Given the description of an element on the screen output the (x, y) to click on. 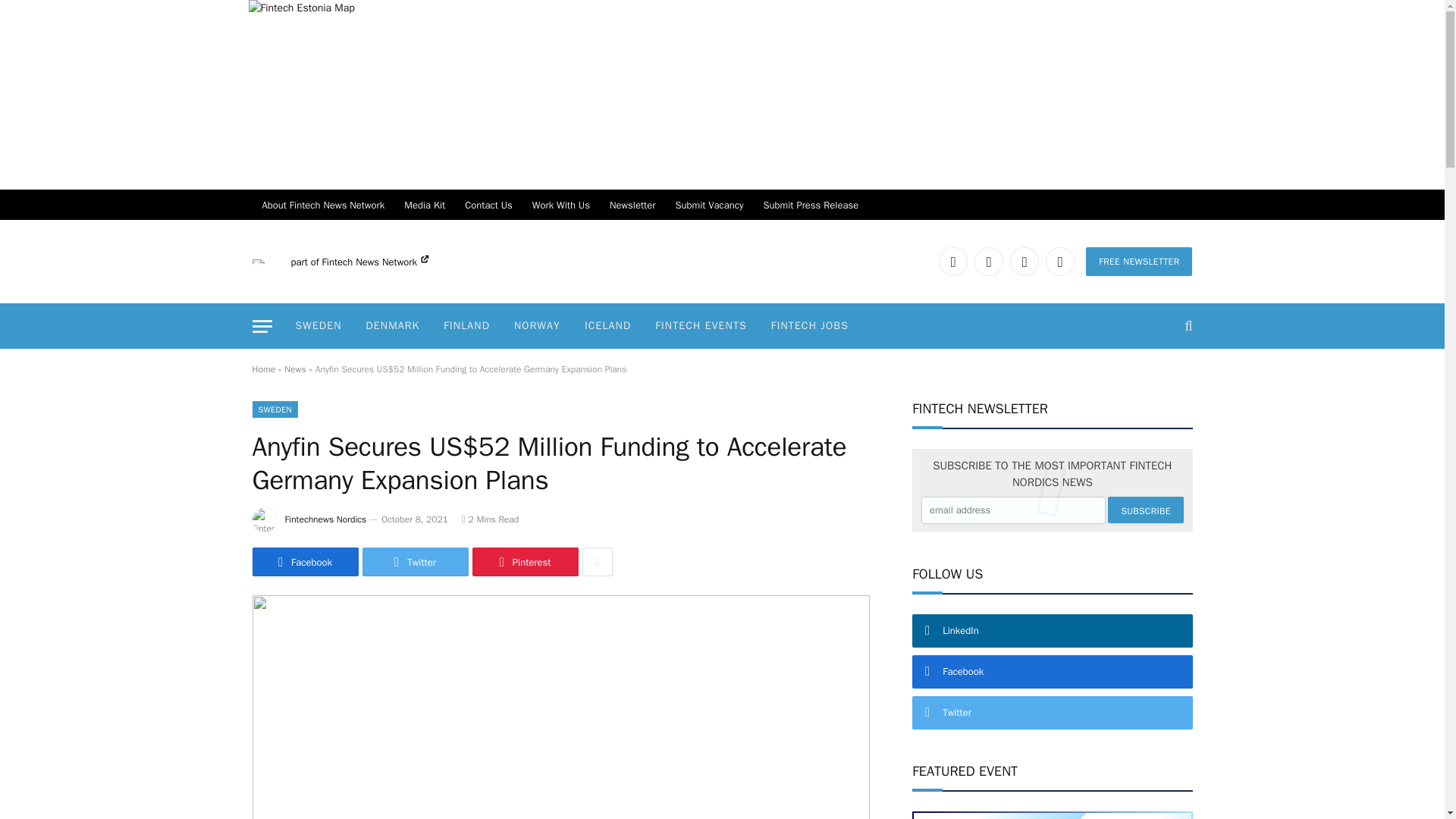
LinkedIn (953, 261)
Share on Facebook (304, 561)
Submit Vacancy (708, 204)
Contact Us (488, 204)
RSS (1059, 261)
Posts by Fintechnews Nordics (325, 519)
About Fintech News Network (322, 204)
Media Kit (424, 204)
Submit Press Release (811, 204)
FREE NEWSLETTER (1139, 261)
